Given the description of an element on the screen output the (x, y) to click on. 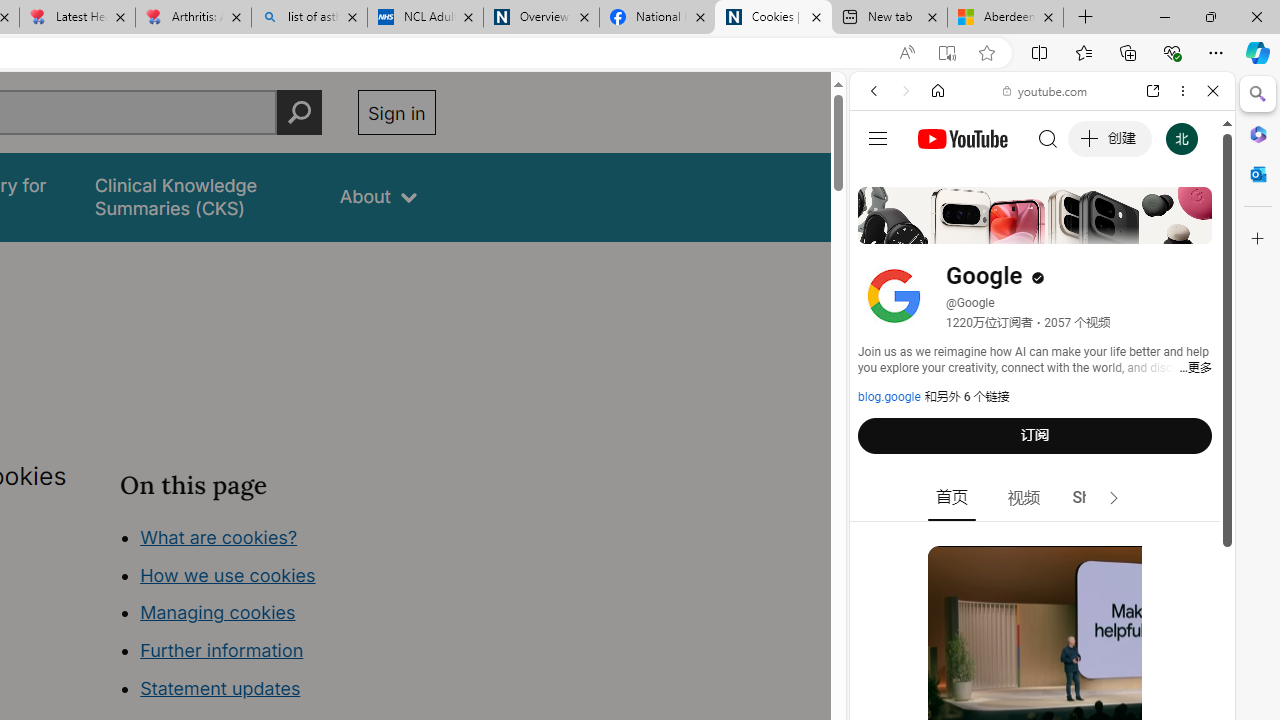
Trailer #2 [HD] (1042, 592)
#you (1042, 445)
Class: style-scope tp-yt-iron-icon (1114, 498)
blog.google (889, 397)
Statement updates (219, 688)
Shorts (1096, 497)
How we use cookies (227, 574)
